Given the description of an element on the screen output the (x, y) to click on. 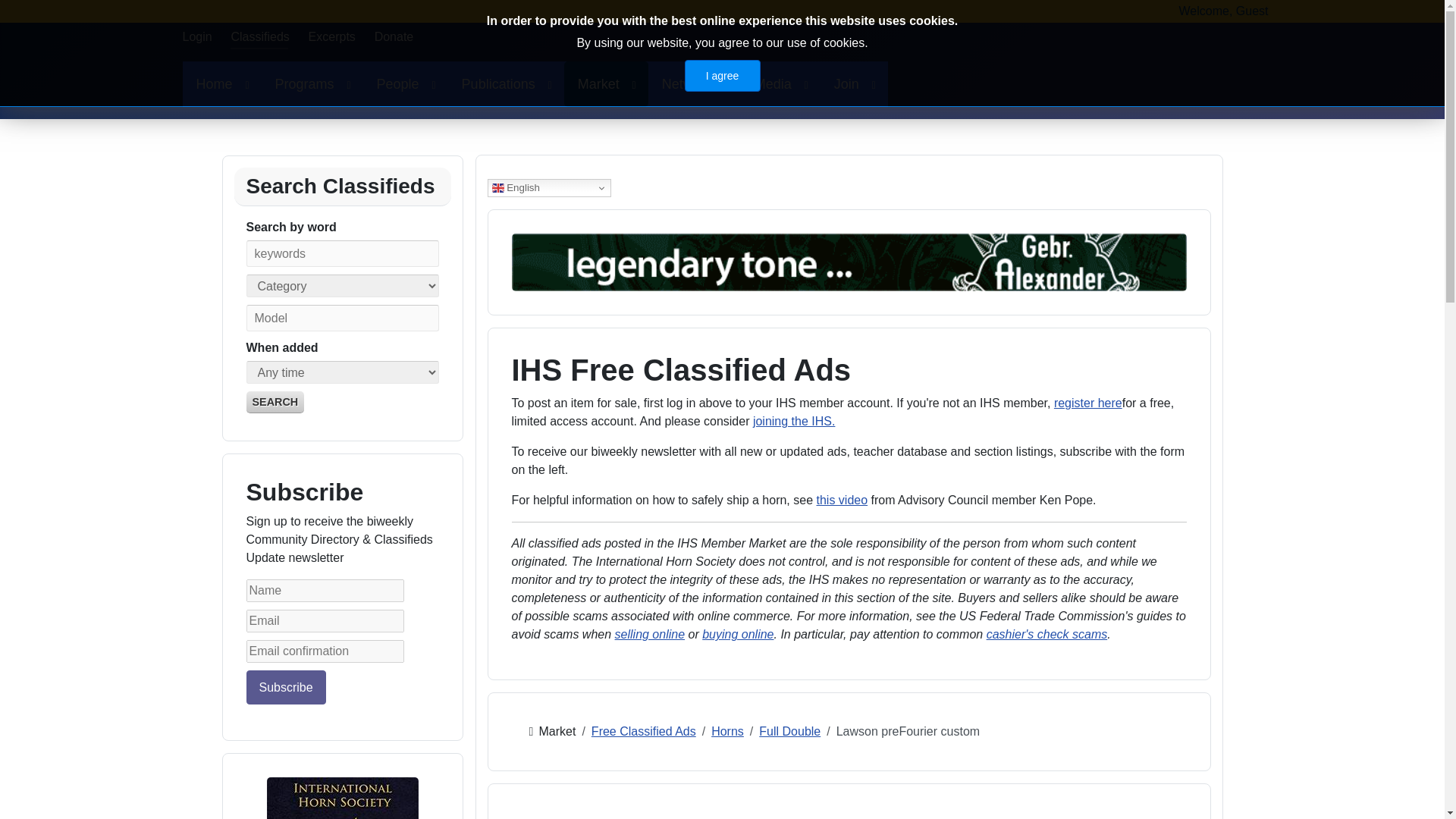
Login (196, 36)
Home (221, 84)
How to pack a horn for shipping (841, 499)
Excerpts (331, 36)
Classifieds (259, 36)
Donate (393, 36)
Programs (312, 84)
Subscribe (285, 687)
Alexander Top (848, 260)
People (405, 84)
